Given the description of an element on the screen output the (x, y) to click on. 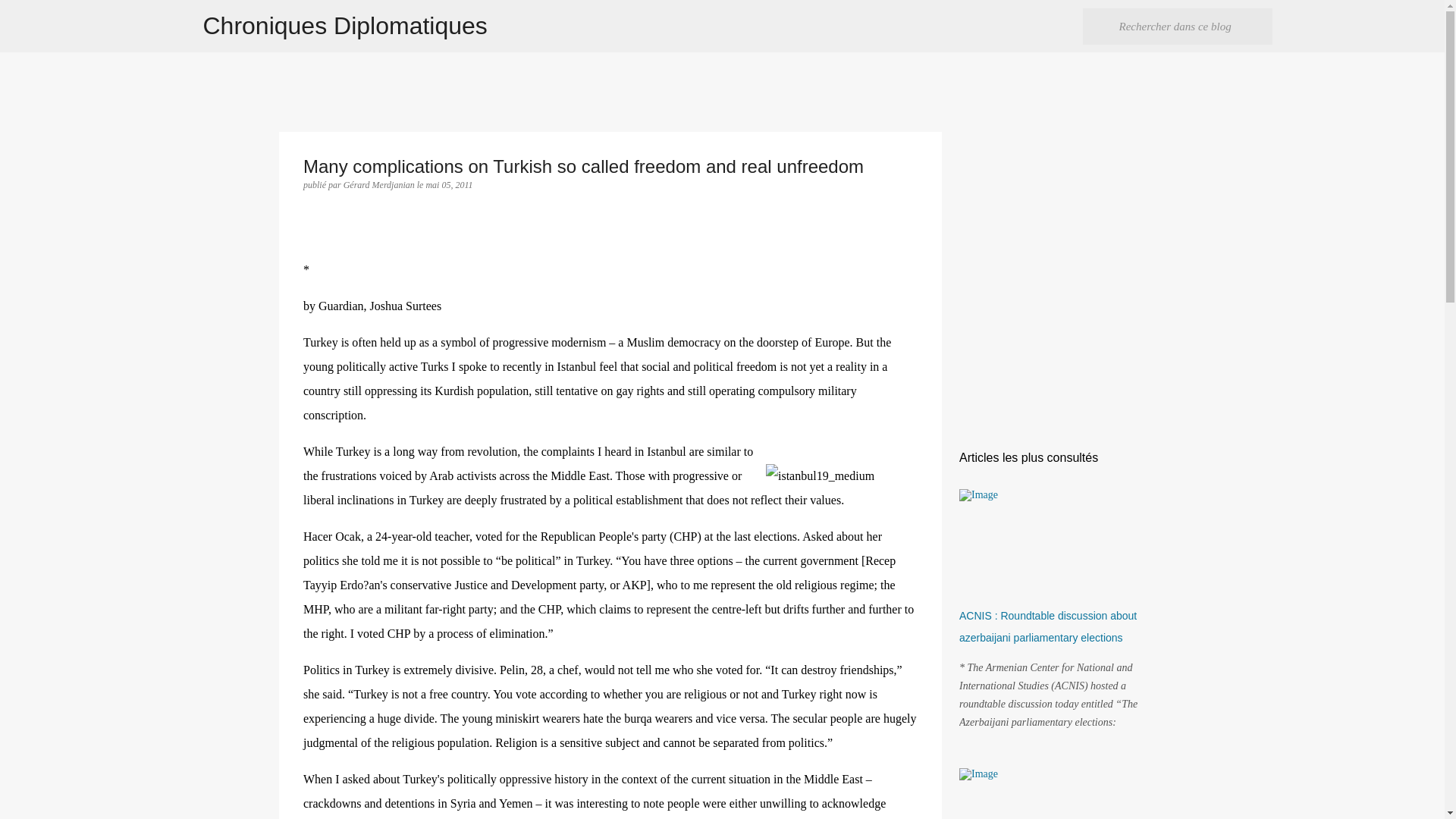
author profile (379, 184)
mai 05, 2011 (448, 184)
Chroniques Diplomatiques (345, 25)
permanent link (448, 184)
